Given the description of an element on the screen output the (x, y) to click on. 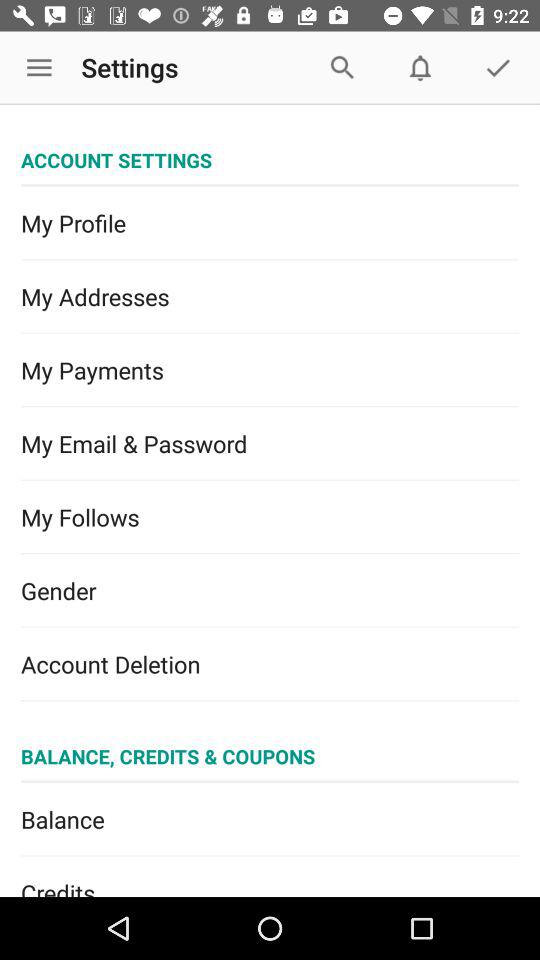
turn off app next to the settings icon (39, 67)
